Given the description of an element on the screen output the (x, y) to click on. 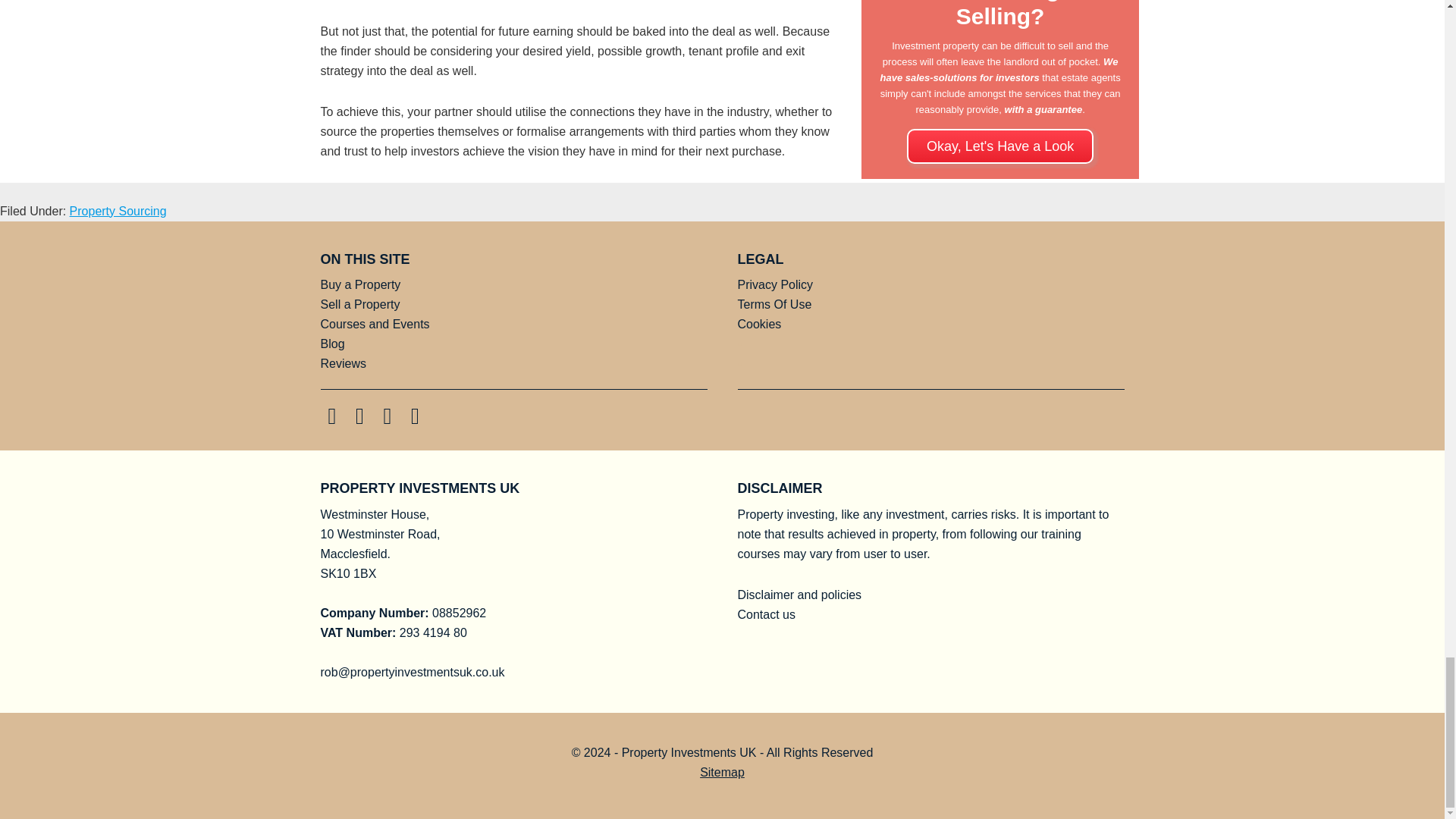
Cookies (758, 323)
Courses and Events (374, 323)
Reviews (342, 363)
Sell a Property (359, 304)
Buy a Property (360, 284)
Privacy Policy (774, 284)
Property Sourcing (118, 210)
Blog (331, 343)
Terms Of Use (773, 304)
